Given the description of an element on the screen output the (x, y) to click on. 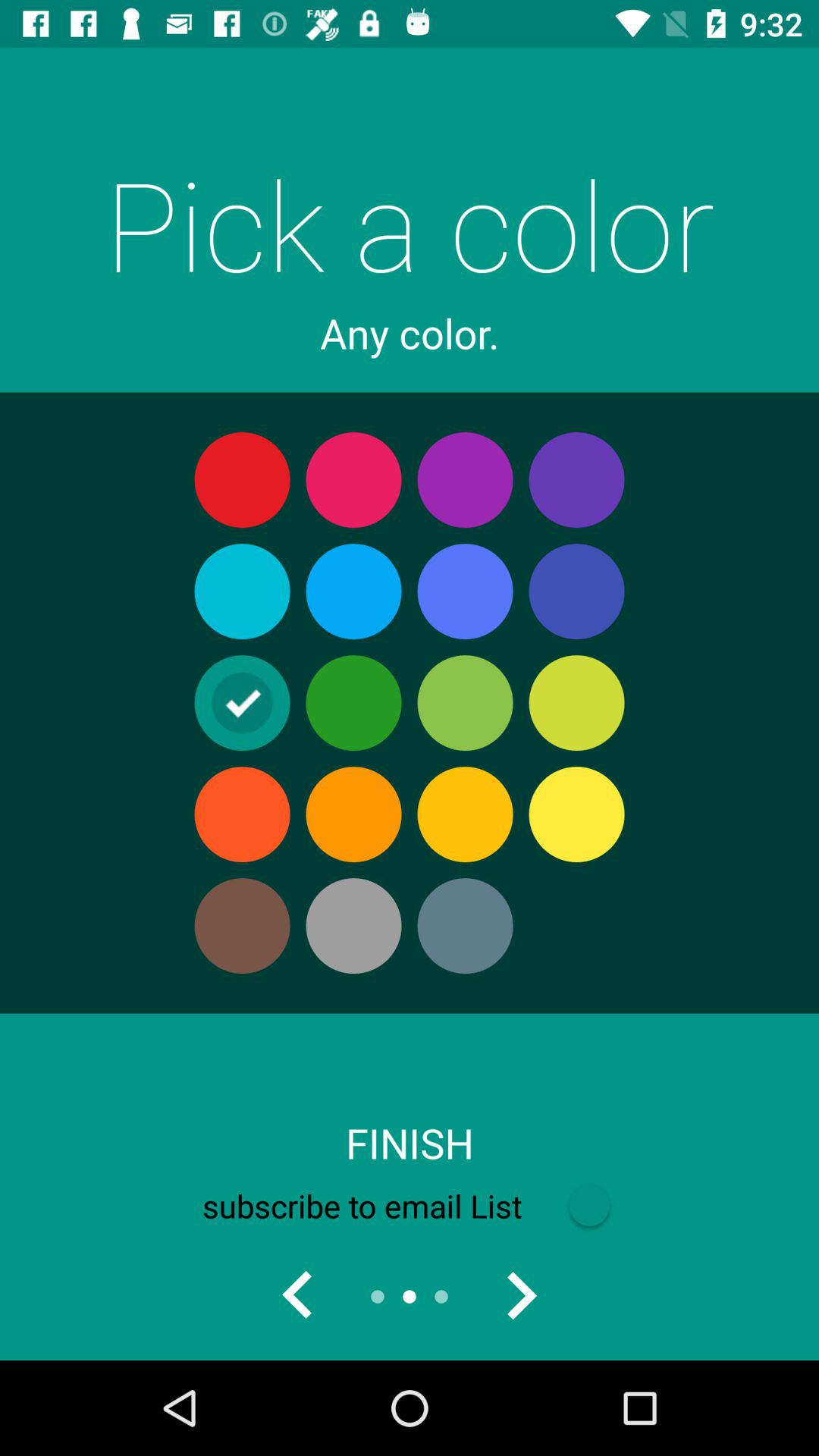
go to next (520, 1296)
